Given the description of an element on the screen output the (x, y) to click on. 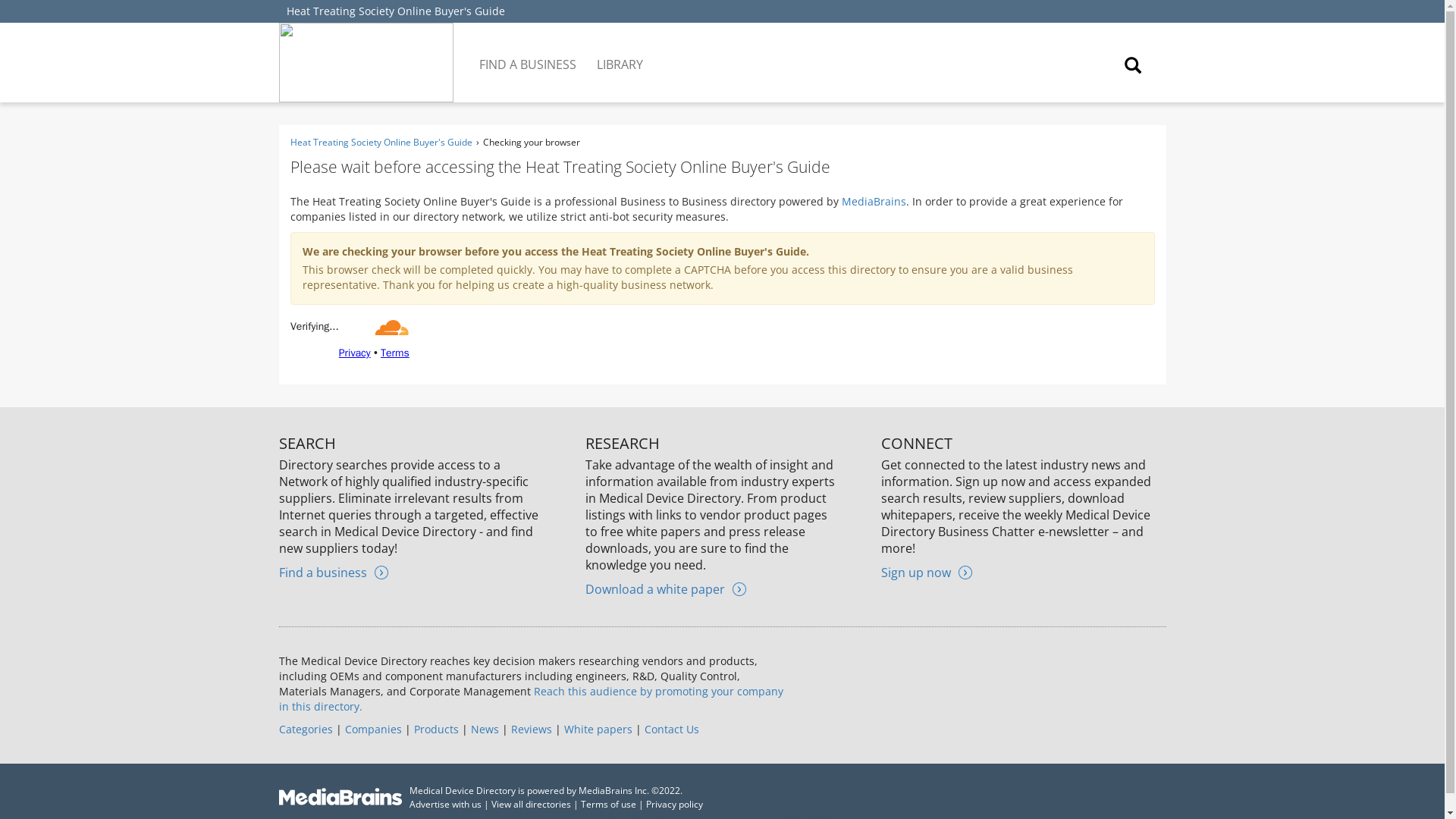
News (483, 728)
Heat Treating Society Online Buyer's Guide (395, 11)
Categories (306, 728)
Find a business (333, 572)
FIND A BUSINESS (528, 52)
Reviews (531, 728)
Companies (372, 728)
Privacy policy (674, 803)
Heat Treating Society Online Buyer's Guide (380, 141)
Terms of use (608, 803)
MediaBrains (873, 201)
LIBRARY (620, 52)
Download a white paper (665, 588)
Contact Us (671, 728)
